Given the description of an element on the screen output the (x, y) to click on. 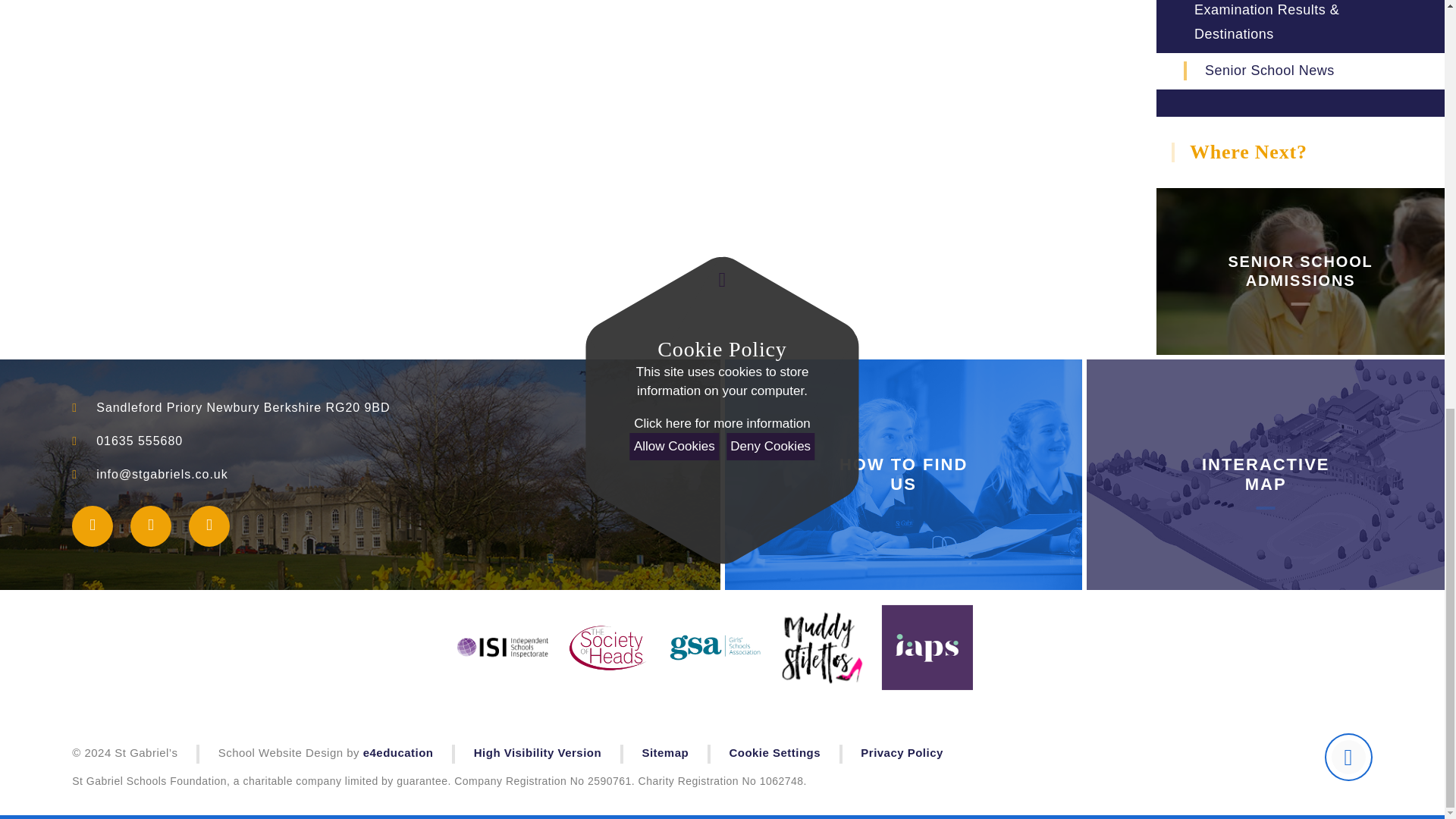
Cookie Settings (775, 752)
